Given the description of an element on the screen output the (x, y) to click on. 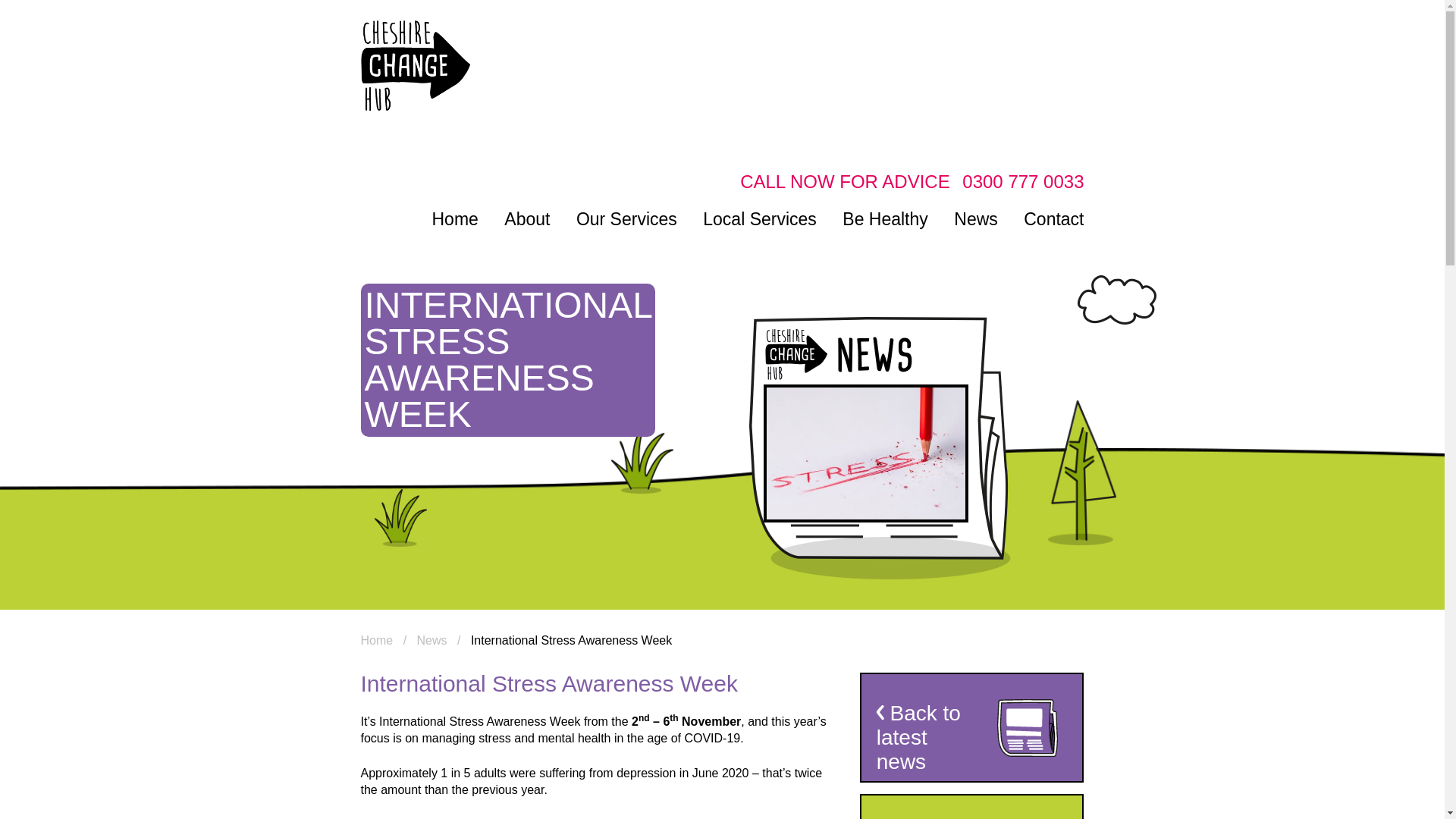
About (526, 218)
0300 777 0033 (1022, 181)
Contact (1053, 218)
Back to latest news (972, 727)
Local Services (759, 218)
Be Healthy (885, 218)
Home (377, 640)
Home (455, 218)
Our Services (626, 218)
News (975, 218)
